Given the description of an element on the screen output the (x, y) to click on. 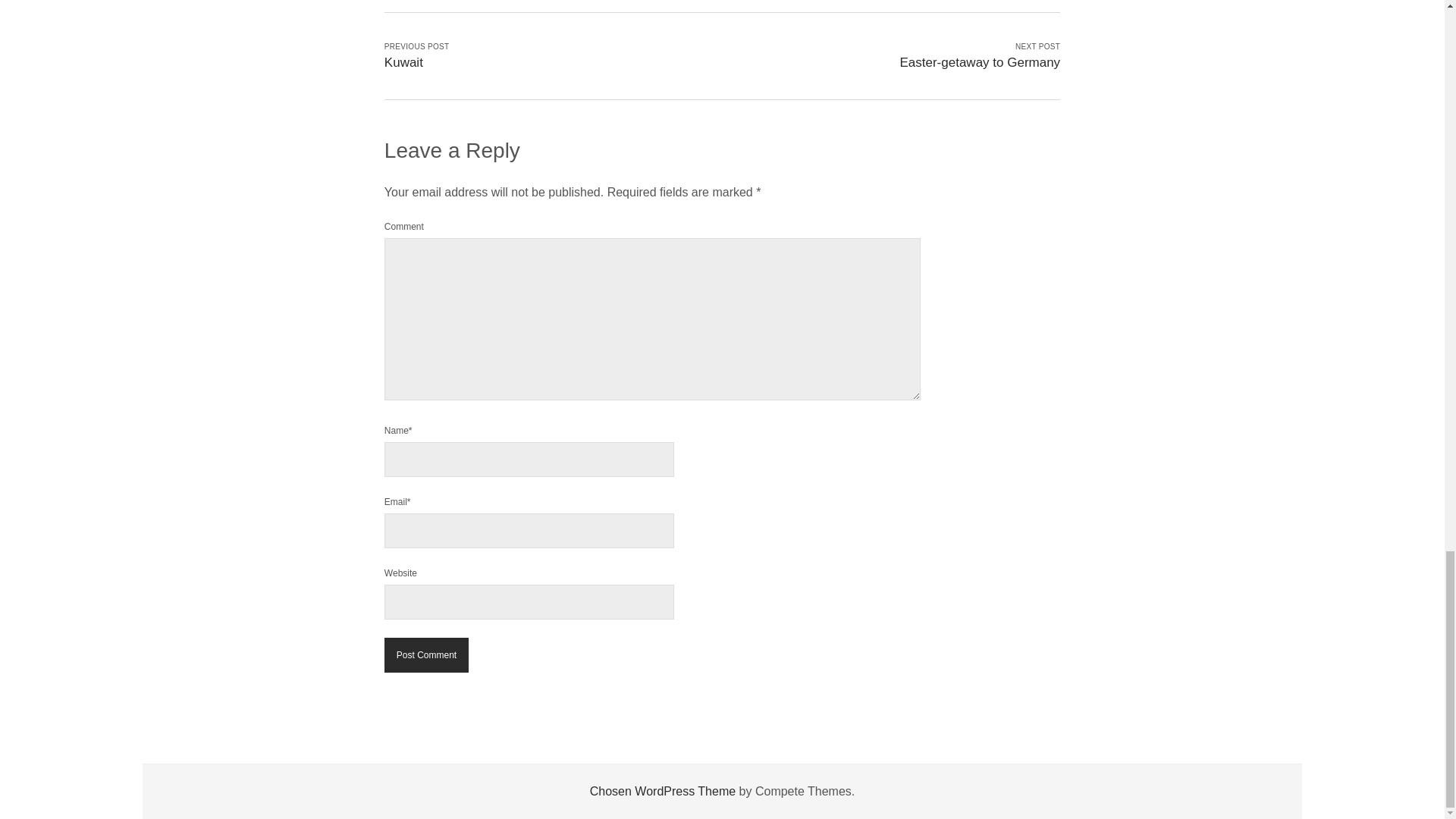
Chosen WordPress Theme (662, 790)
Post Comment (426, 655)
Easter-getaway to Germany (979, 62)
Kuwait (403, 62)
Post Comment (426, 655)
